Given the description of an element on the screen output the (x, y) to click on. 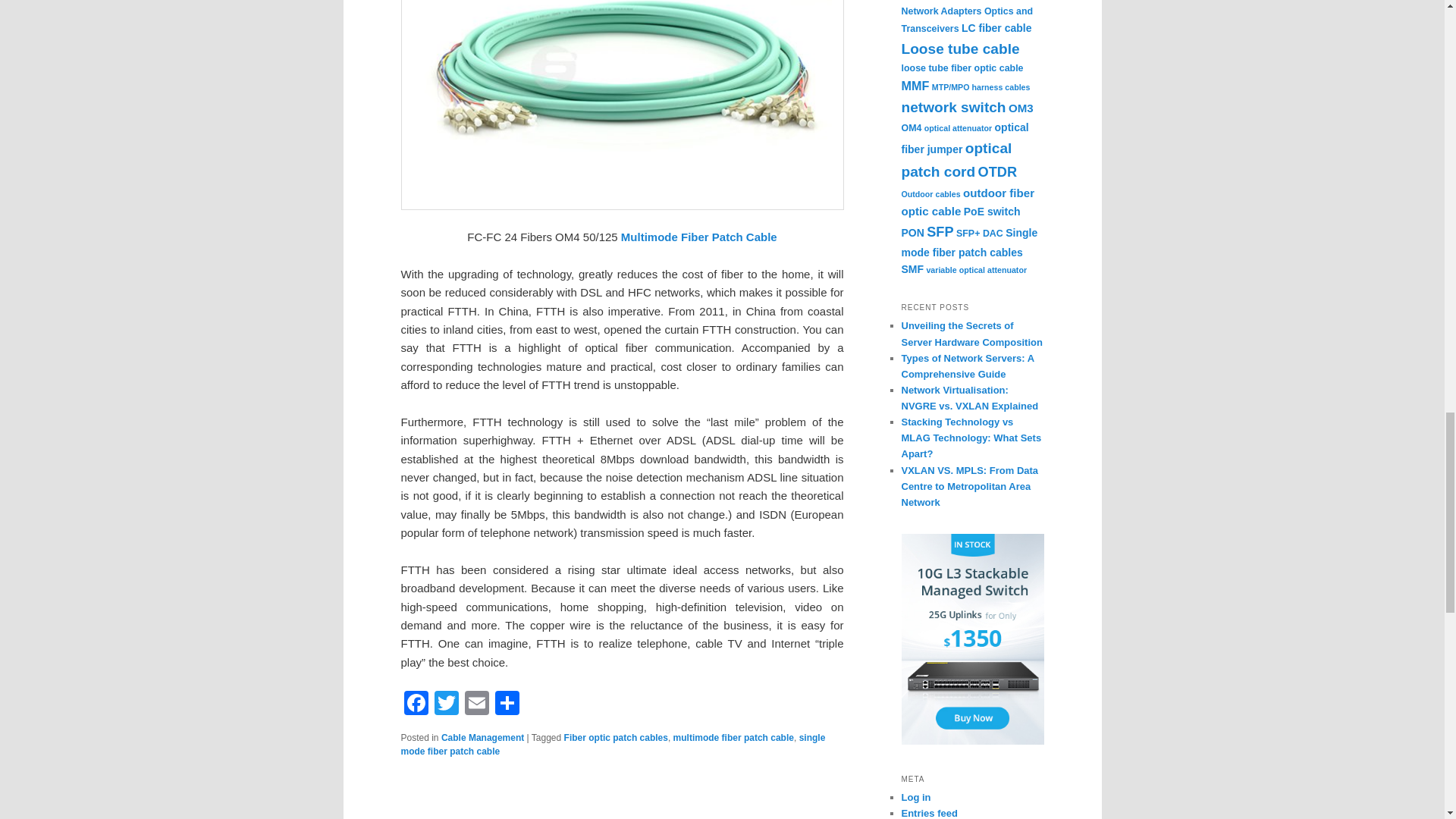
Facebook (415, 705)
Email (476, 705)
Facebook (415, 705)
multimode fiber patch cable (732, 737)
single mode fiber patch cable (612, 744)
Fiber optic patch cables (616, 737)
Multimode Fiber Patch Cable (699, 236)
Multimode Fiber Patch Cable (699, 236)
Email (476, 705)
Twitter (445, 705)
